Given the description of an element on the screen output the (x, y) to click on. 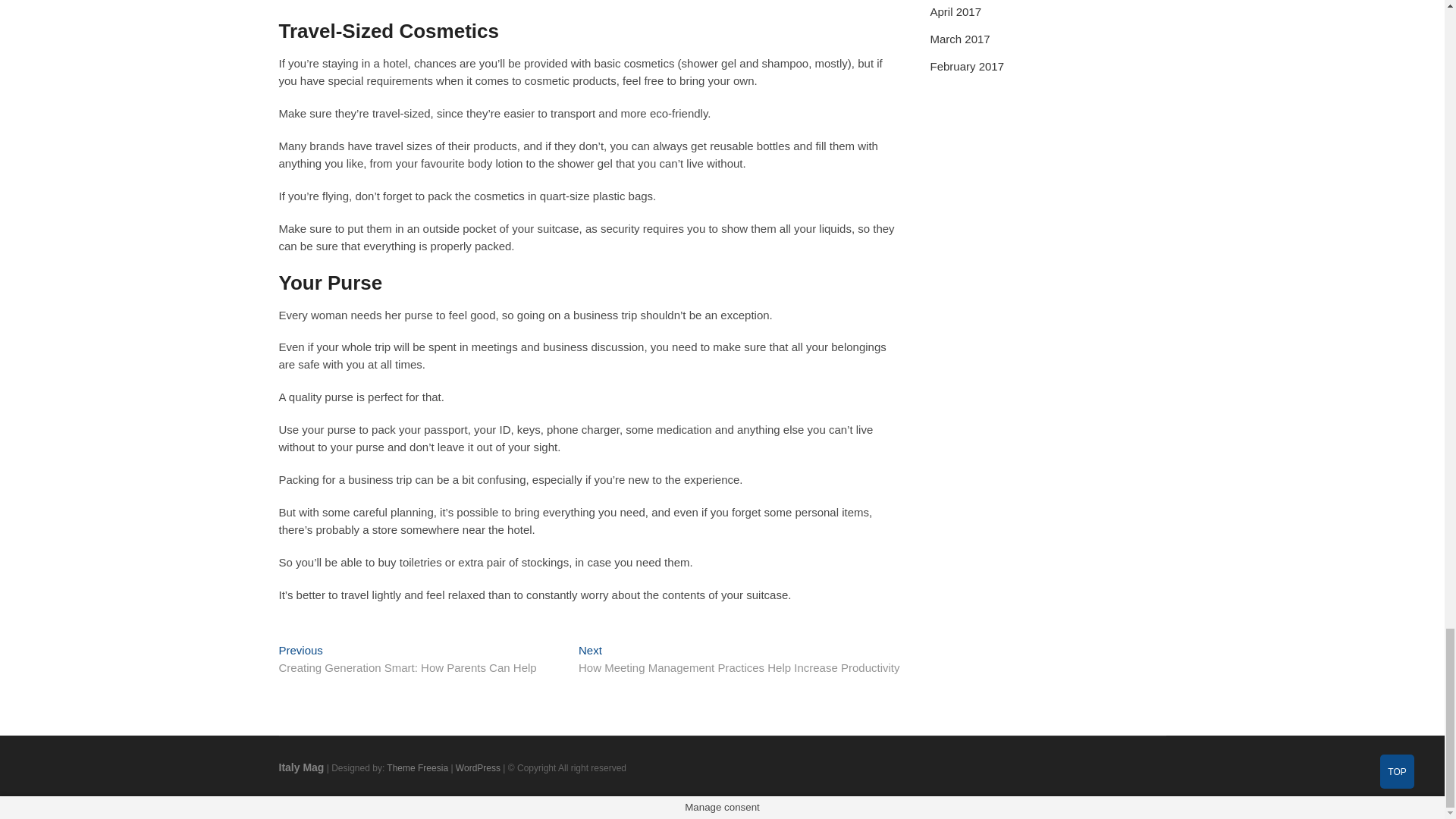
WordPress (477, 767)
Theme Freesia (417, 767)
Italy Mag (301, 767)
